Given the description of an element on the screen output the (x, y) to click on. 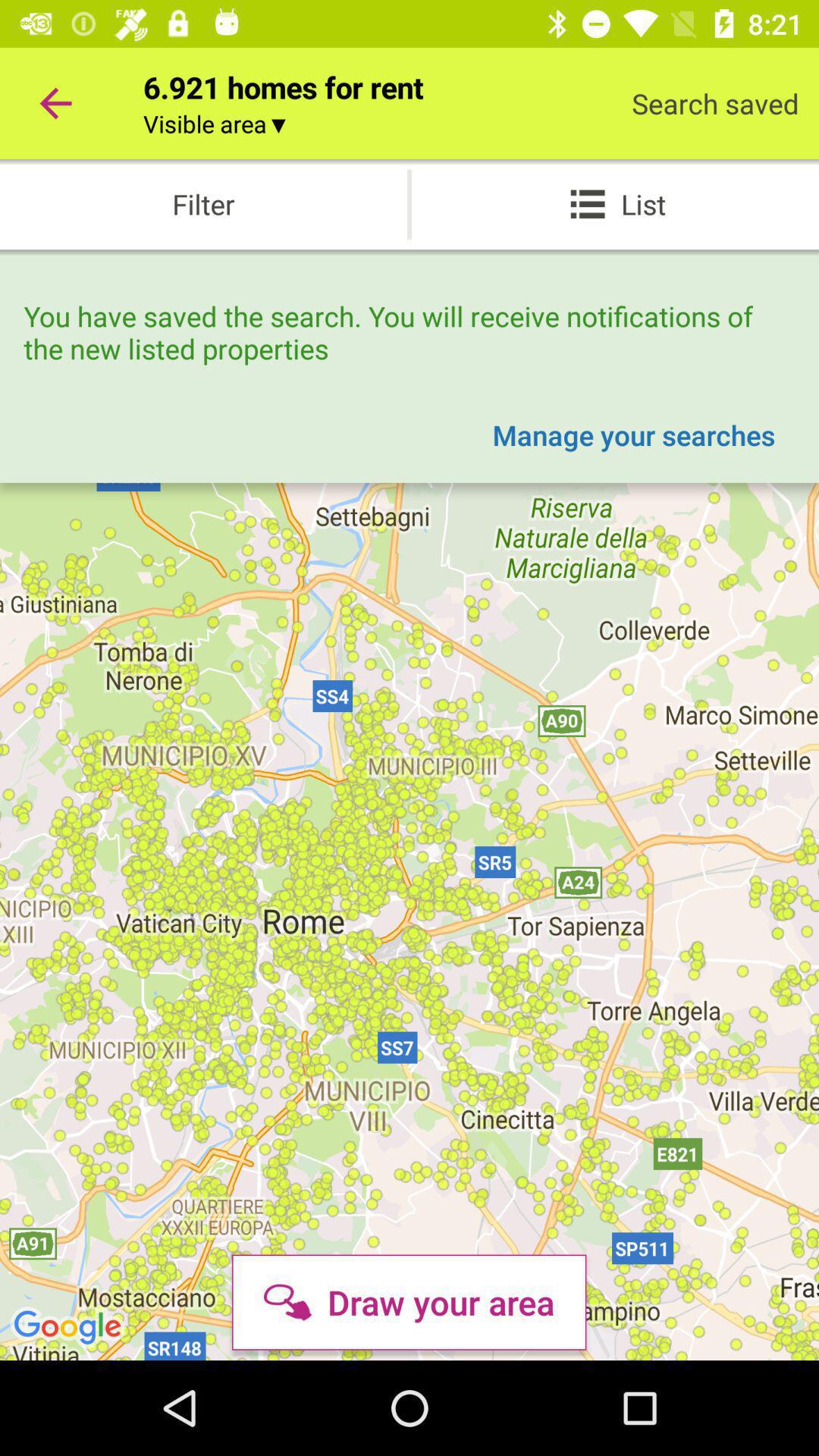
tap item below manage your searches icon (409, 1302)
